Given the description of an element on the screen output the (x, y) to click on. 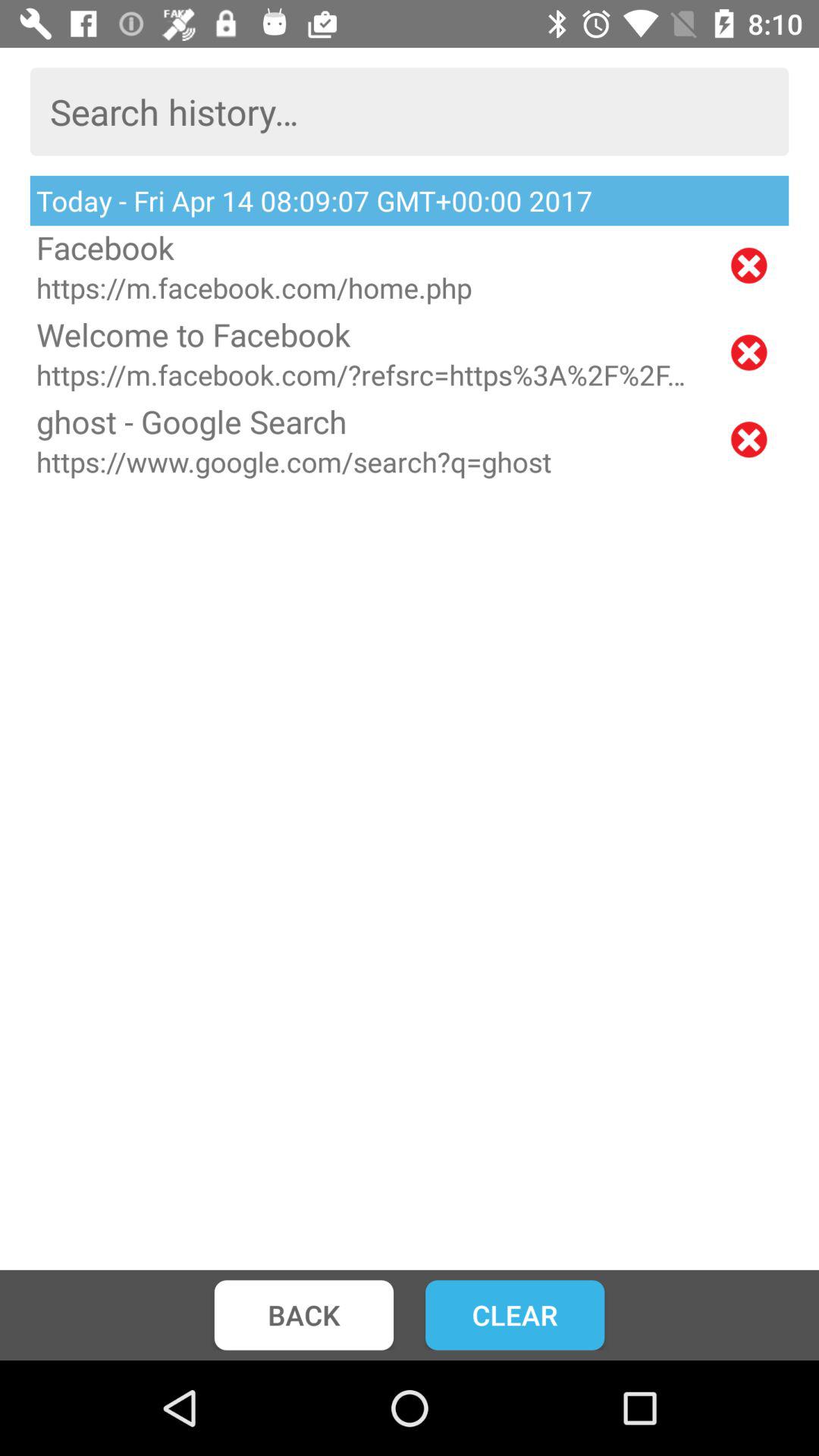
flip to the clear icon (514, 1315)
